Given the description of an element on the screen output the (x, y) to click on. 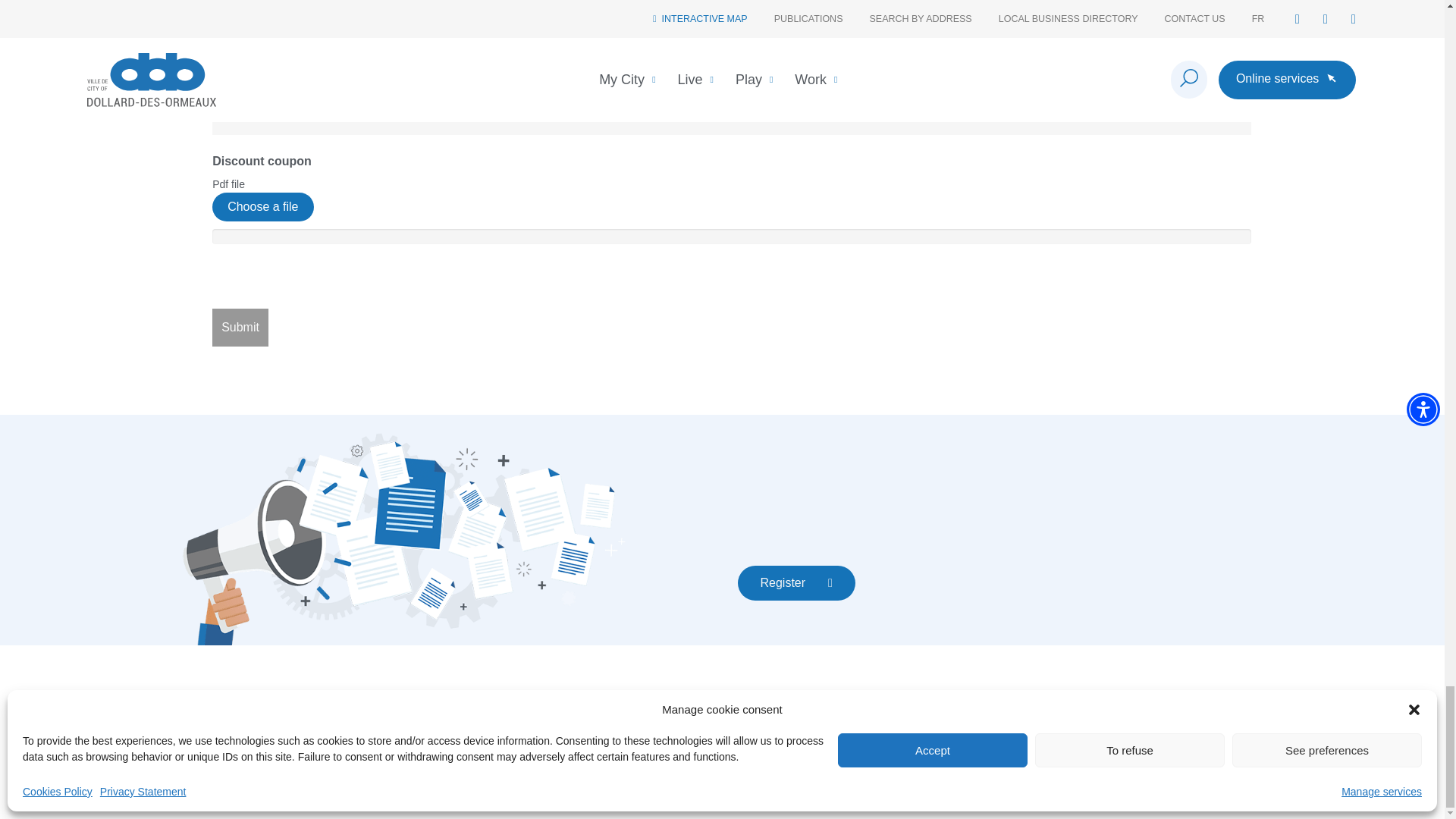
Submit (239, 327)
Engineered by Activis, Your web agency (1297, 790)
